Given the description of an element on the screen output the (x, y) to click on. 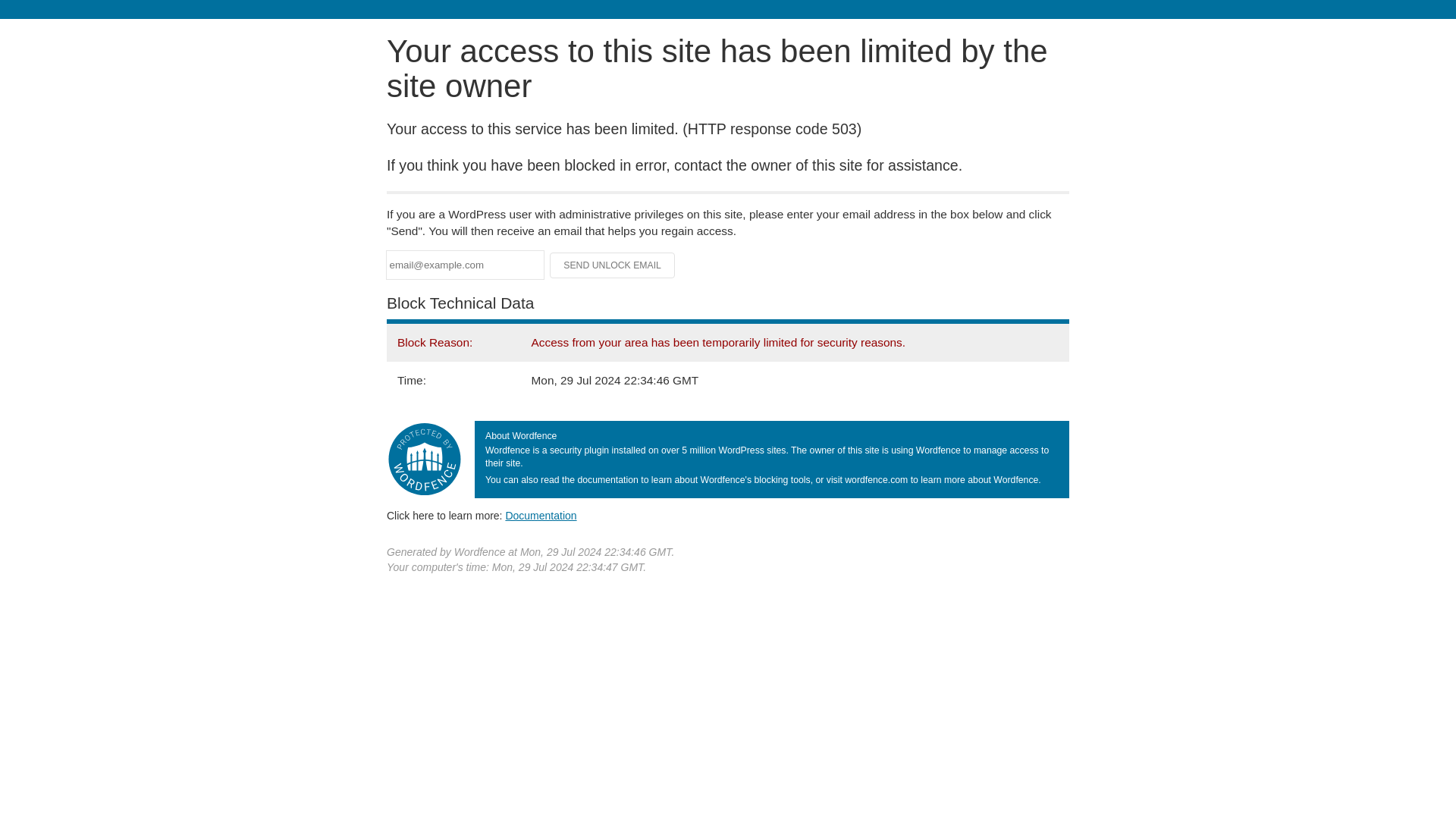
Send Unlock Email (612, 265)
Send Unlock Email (612, 265)
Documentation (540, 515)
